Given the description of an element on the screen output the (x, y) to click on. 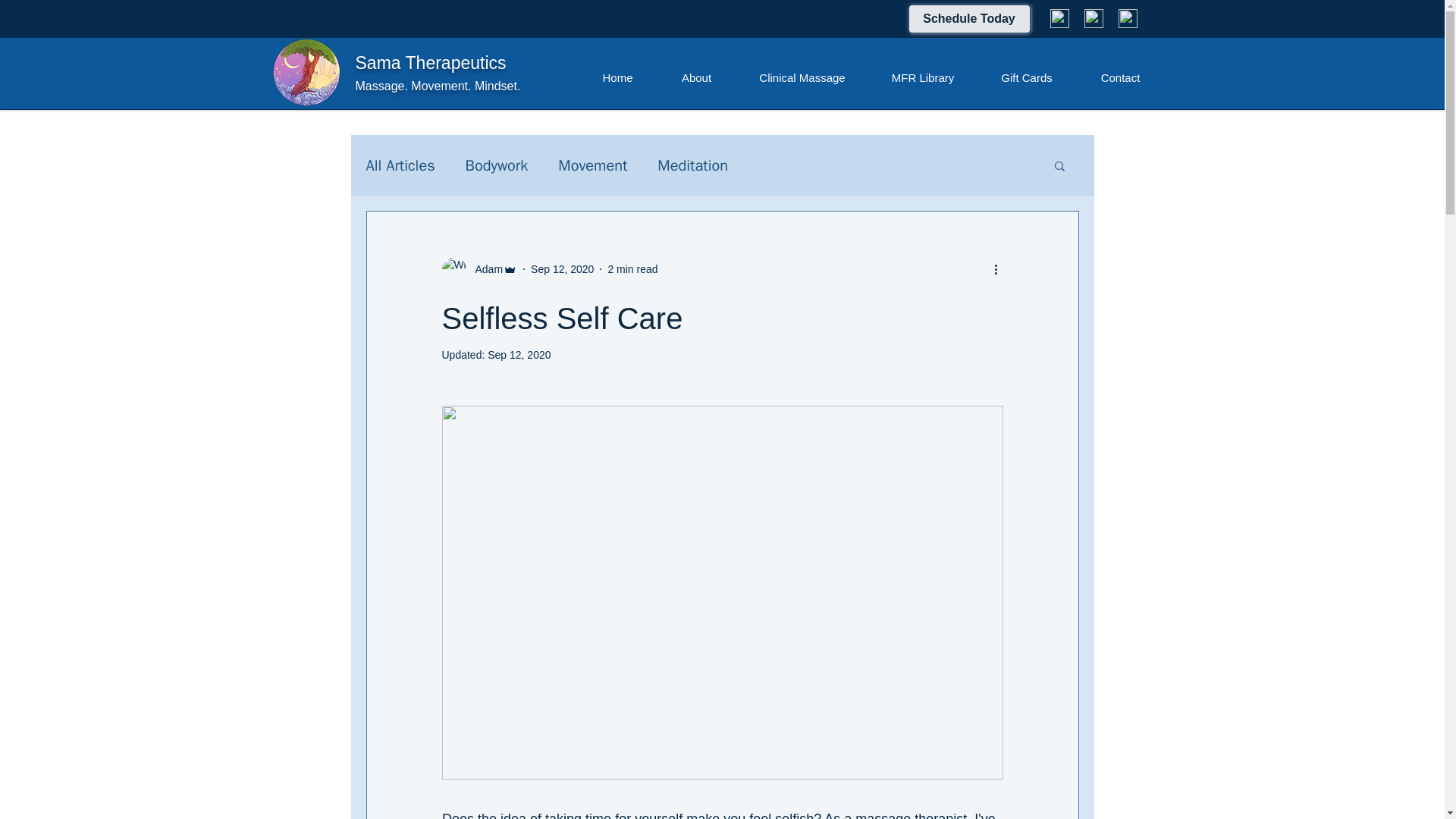
Sep 12, 2020 (518, 354)
Adam (483, 268)
Home (617, 77)
All Articles (399, 164)
About (695, 77)
Contact (1120, 77)
Clinical Massage (801, 77)
Massage. Movement. Mindset. (437, 85)
Schedule Today (969, 18)
Meditation (693, 164)
